Given the description of an element on the screen output the (x, y) to click on. 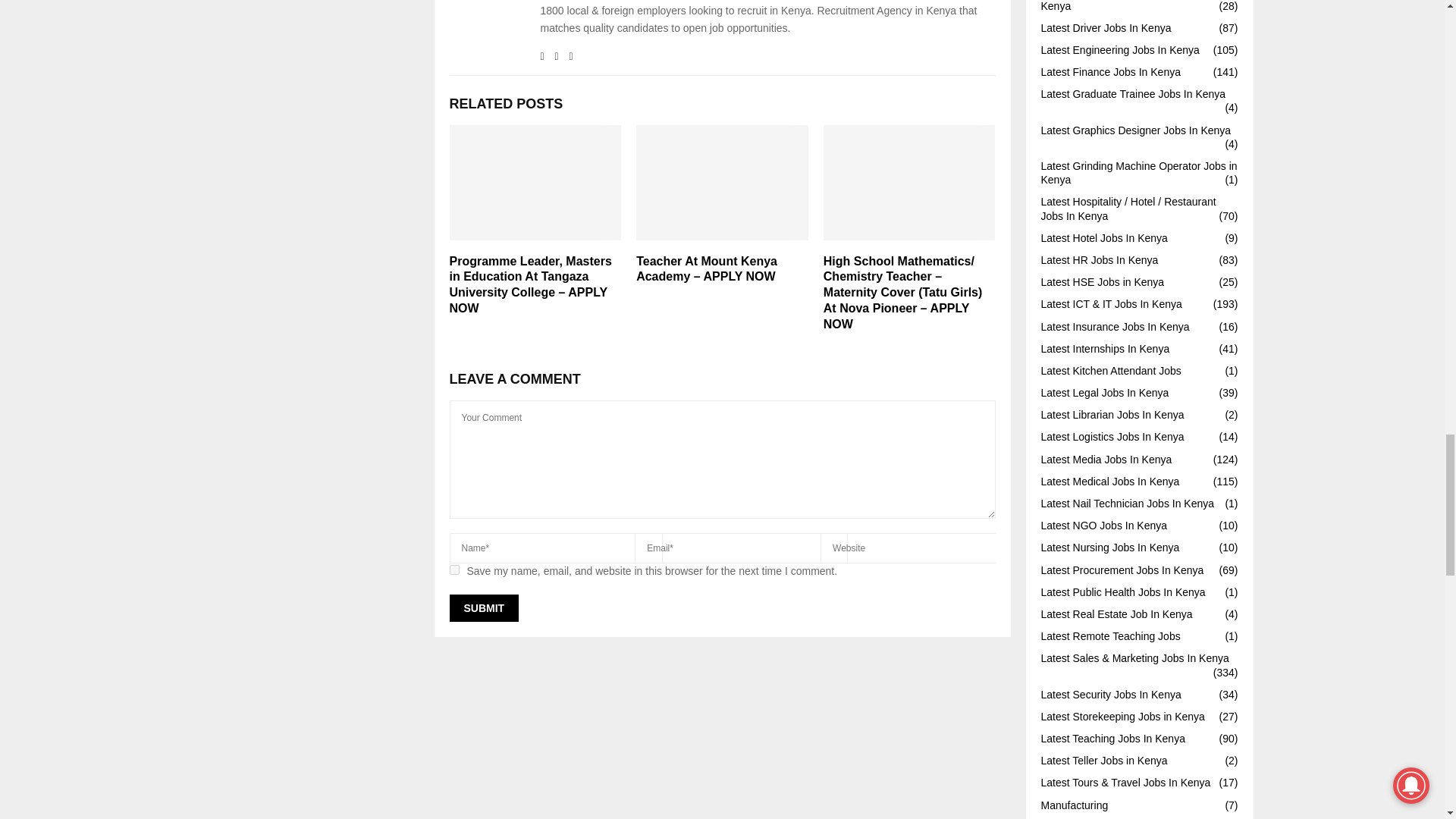
yes (453, 569)
Submit (483, 607)
